Given the description of an element on the screen output the (x, y) to click on. 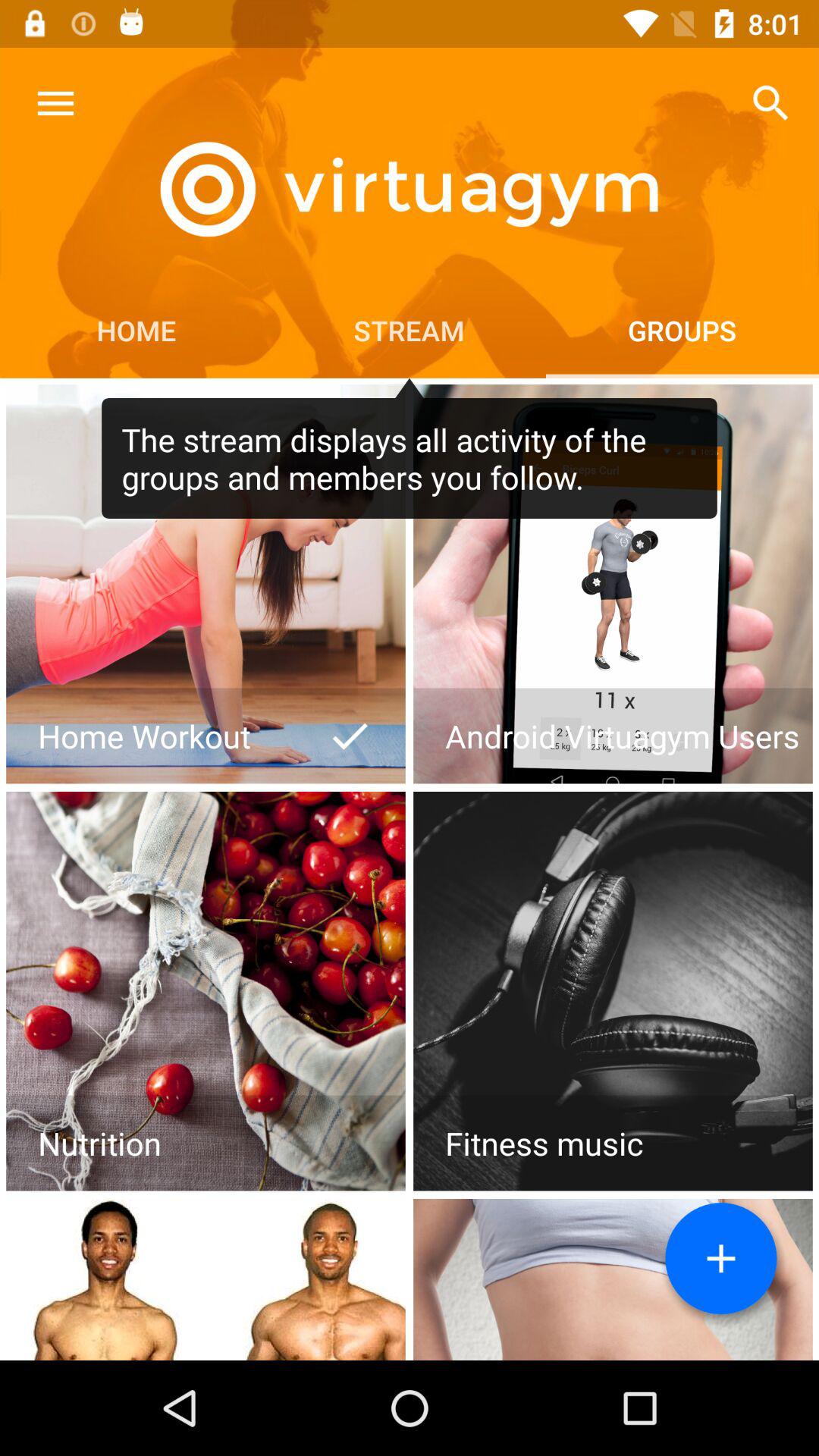
select home workout (205, 583)
